Given the description of an element on the screen output the (x, y) to click on. 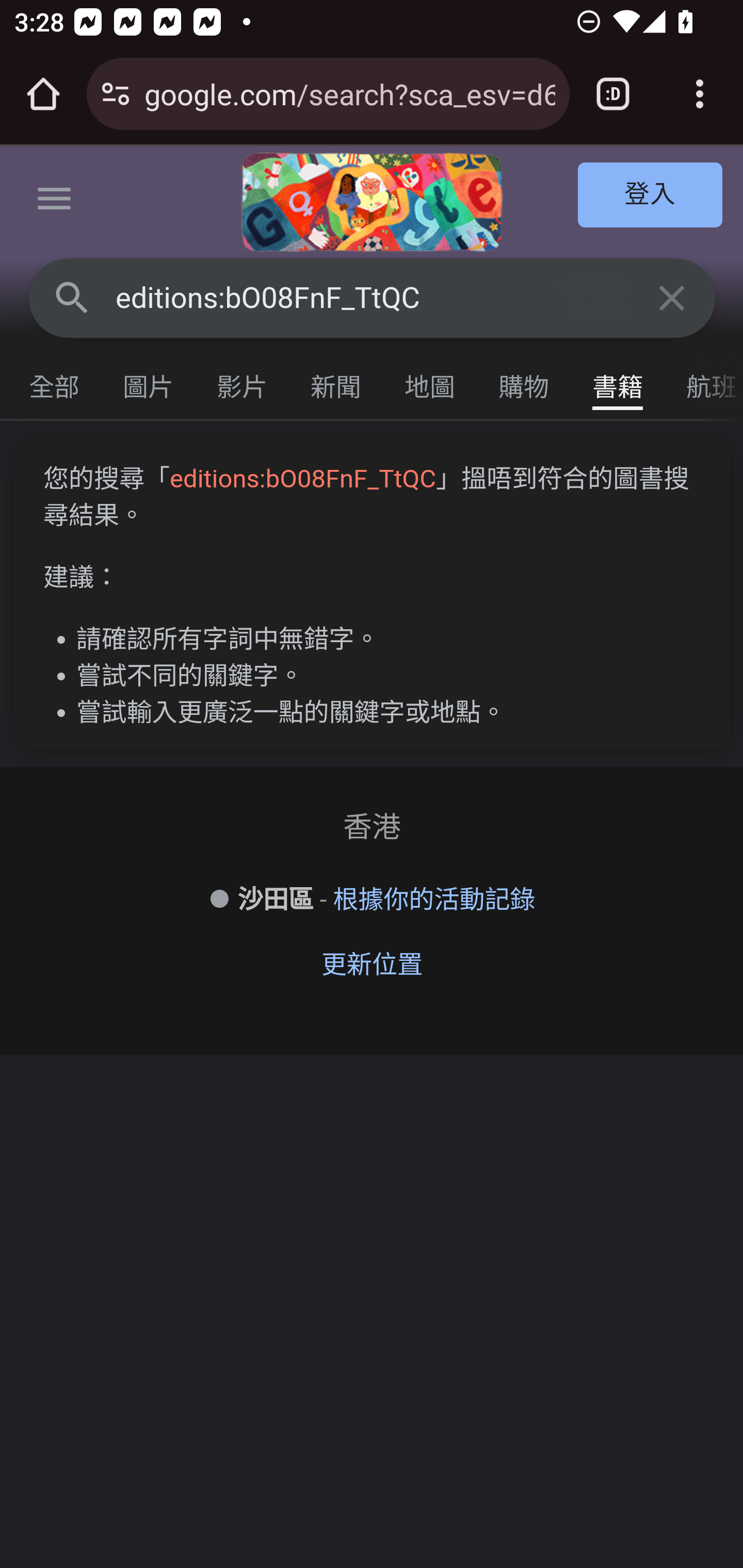
Open the home page (43, 93)
Connection is secure (115, 93)
Switch or close tabs (612, 93)
Customize and control Google Chrome (699, 93)
主選單 (54, 202)
登入 (650, 195)
Google 搜尋 (71, 296)
清除搜尋內容 (672, 296)
editions:bO08FnF_TtQC (372, 297)
全部 (54, 382)
圖片 (148, 382)
影片 (242, 382)
新聞 (336, 382)
地圖 (430, 382)
購物 (524, 382)
航班 (703, 382)
沙田區  - 根據你的活動記錄 (371, 899)
更新位置 (371, 965)
